Given the description of an element on the screen output the (x, y) to click on. 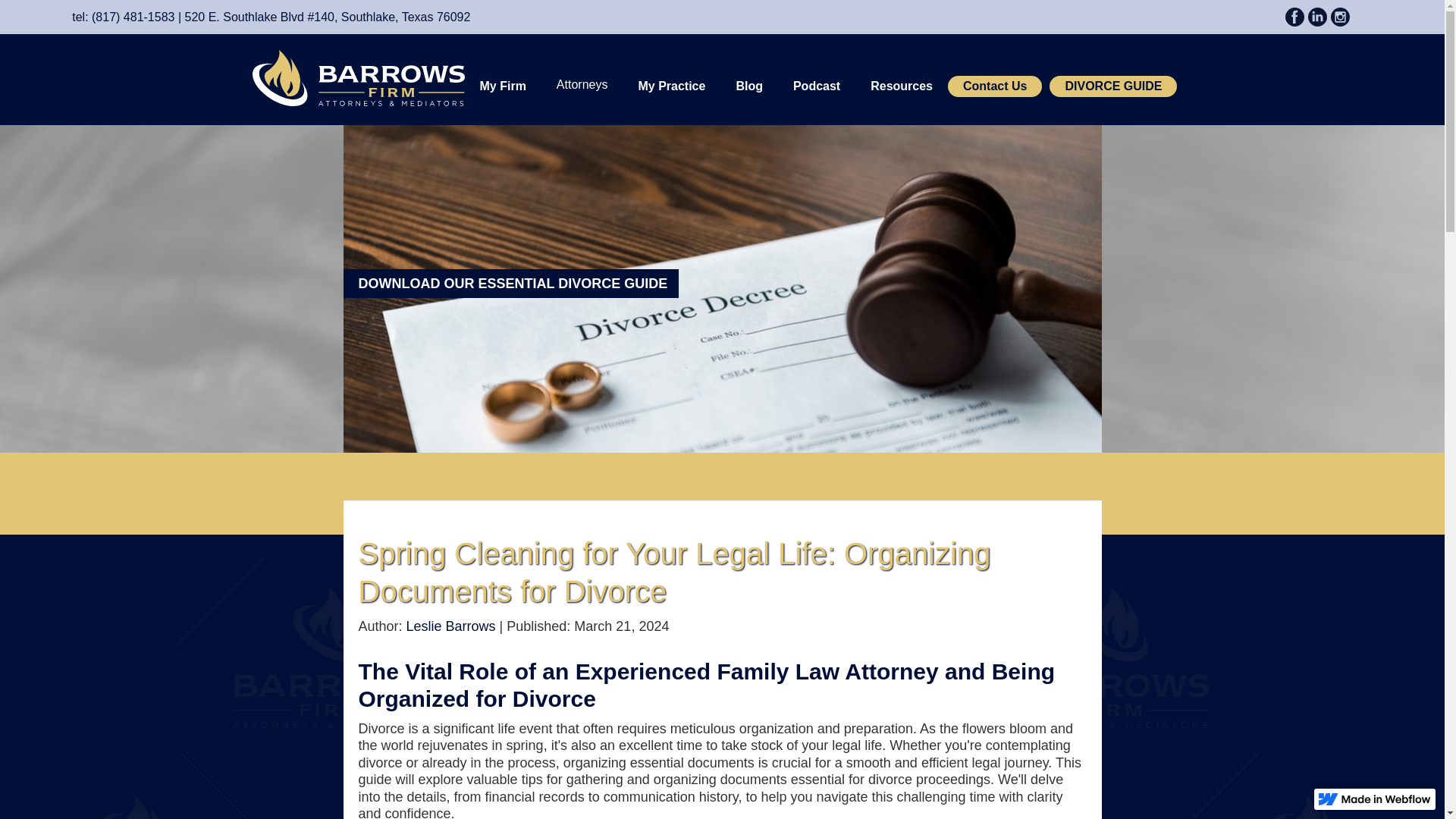
DOWNLOAD OUR ESSENTIAL DIVORCE GUIDE (510, 283)
Leslie Barrows (451, 626)
My Firm (502, 85)
contact us (1112, 86)
contact us (994, 86)
Podcast (816, 86)
Blog (748, 86)
My Practice (670, 85)
Podcast (816, 86)
Resources (901, 86)
Blog (748, 86)
My Practice (502, 85)
My Practice (670, 85)
Resources (901, 86)
home (357, 77)
